Given the description of an element on the screen output the (x, y) to click on. 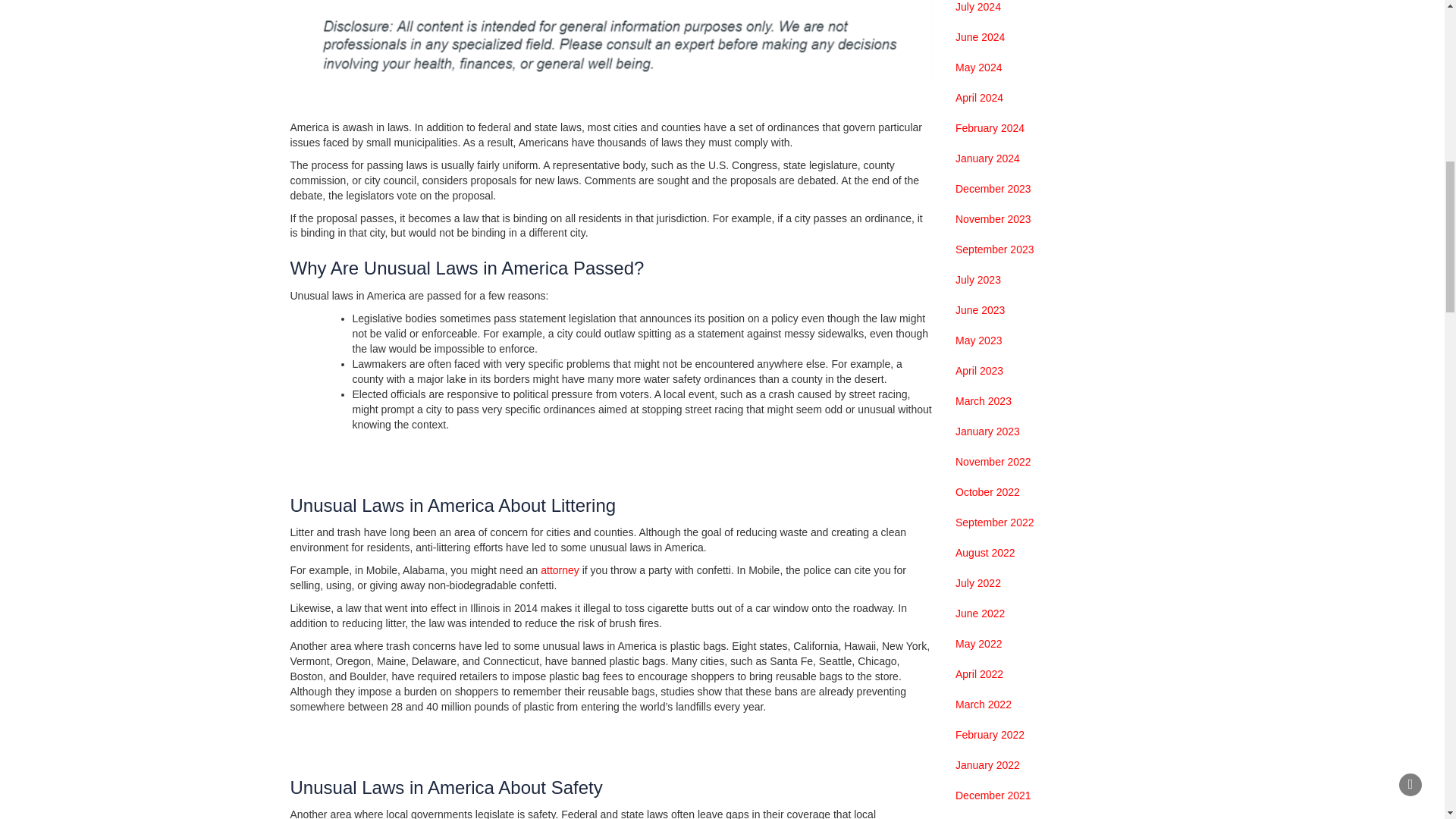
January 2024 (987, 159)
October 2022 (987, 492)
July 2023 (978, 280)
September 2022 (994, 522)
attorney (559, 570)
February 2024 (990, 128)
April 2024 (979, 98)
November 2022 (992, 462)
August 2022 (984, 553)
November 2023 (992, 219)
